Given the description of an element on the screen output the (x, y) to click on. 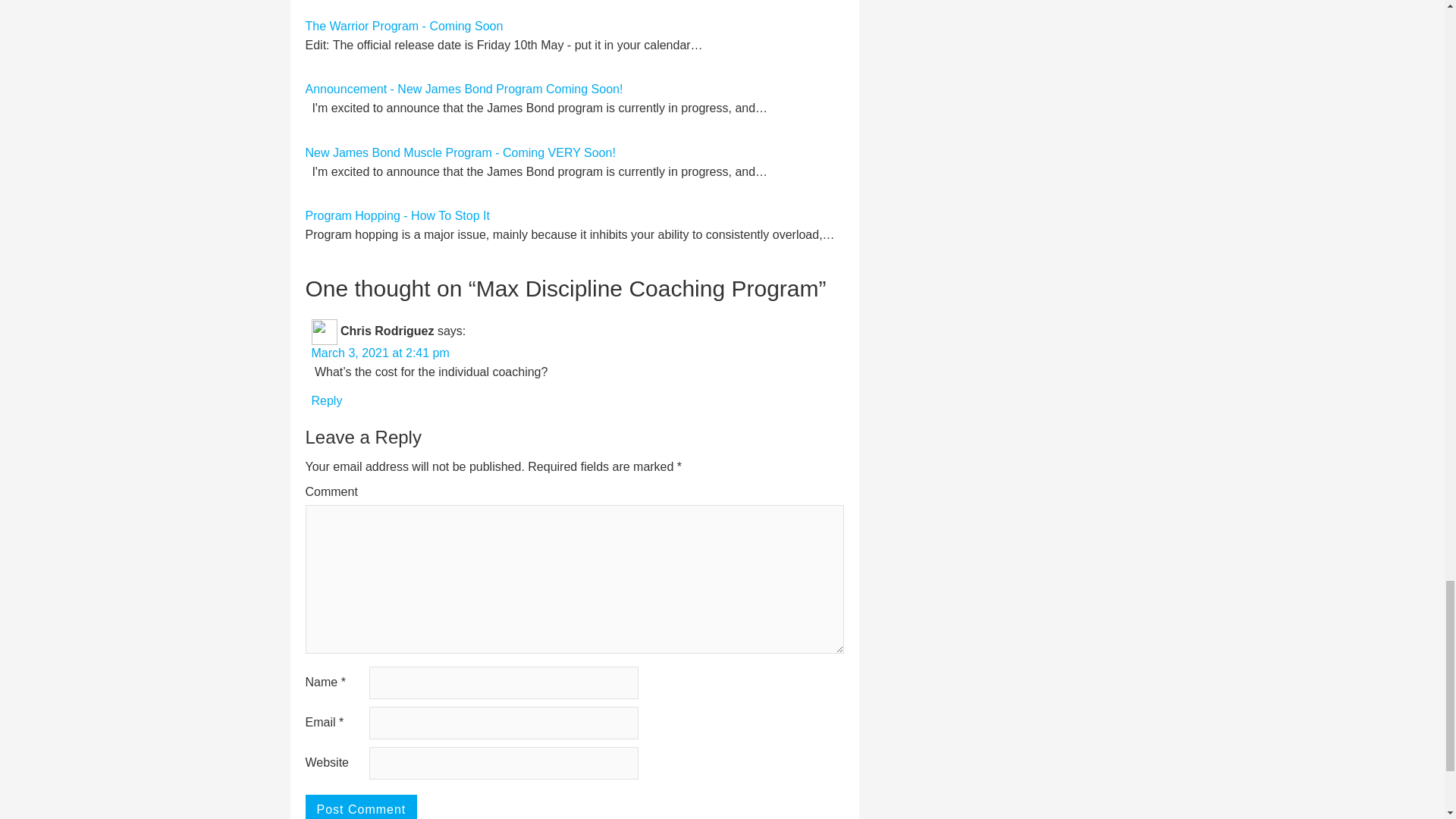
March 3, 2021 at 2:41 pm (379, 352)
Program Hopping - How To Stop It (396, 215)
Reply (326, 400)
Post Comment (360, 806)
Announcement - New James Bond Program Coming Soon! (463, 88)
Post Comment (360, 806)
New James Bond Muscle Program - Coming VERY Soon! (459, 152)
The Warrior Program - Coming Soon (403, 25)
